Given the description of an element on the screen output the (x, y) to click on. 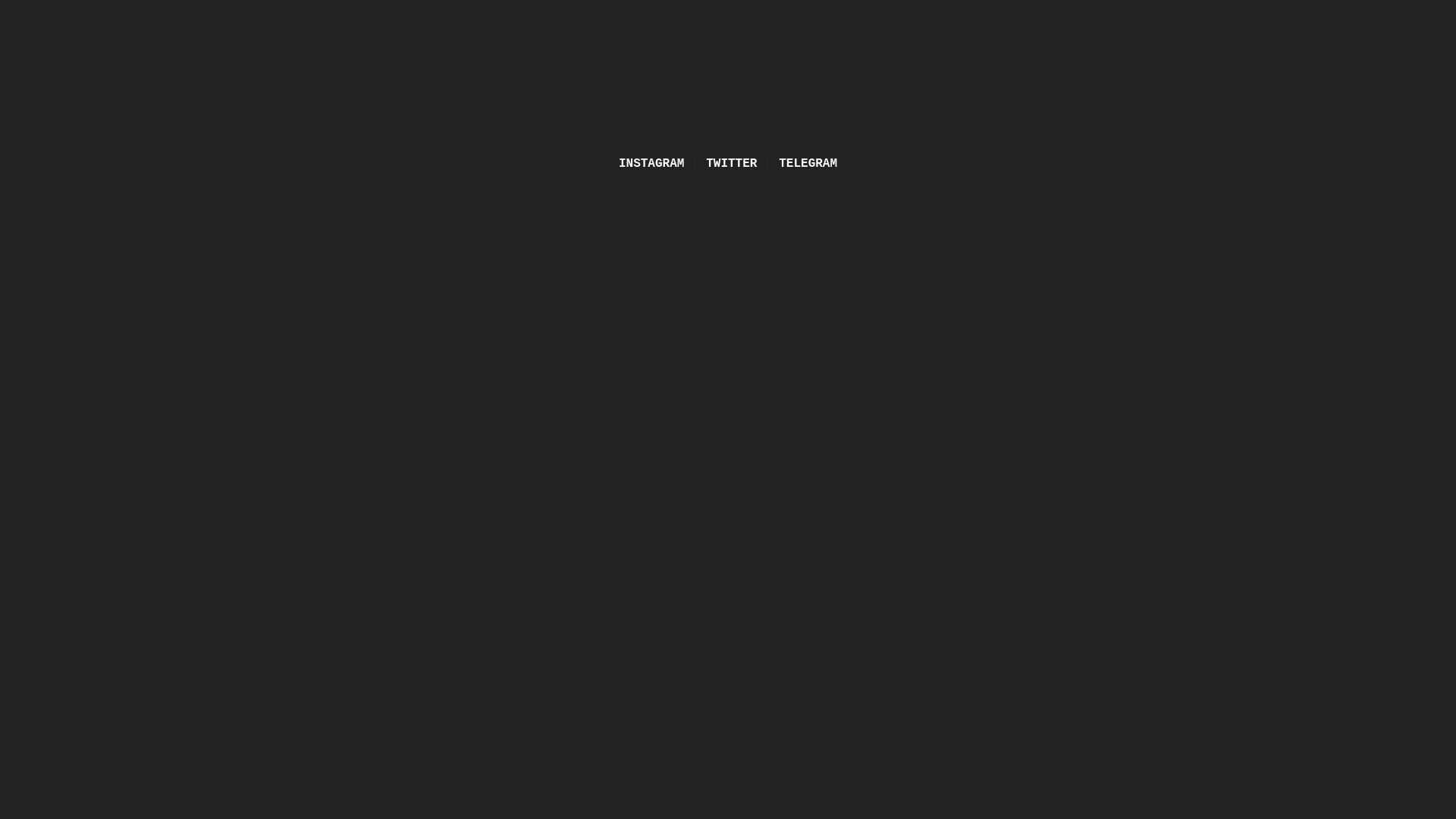
INSTAGRAM Element type: text (651, 163)
TELEGRAM Element type: text (807, 163)
TWITTER Element type: text (731, 163)
